Given the description of an element on the screen output the (x, y) to click on. 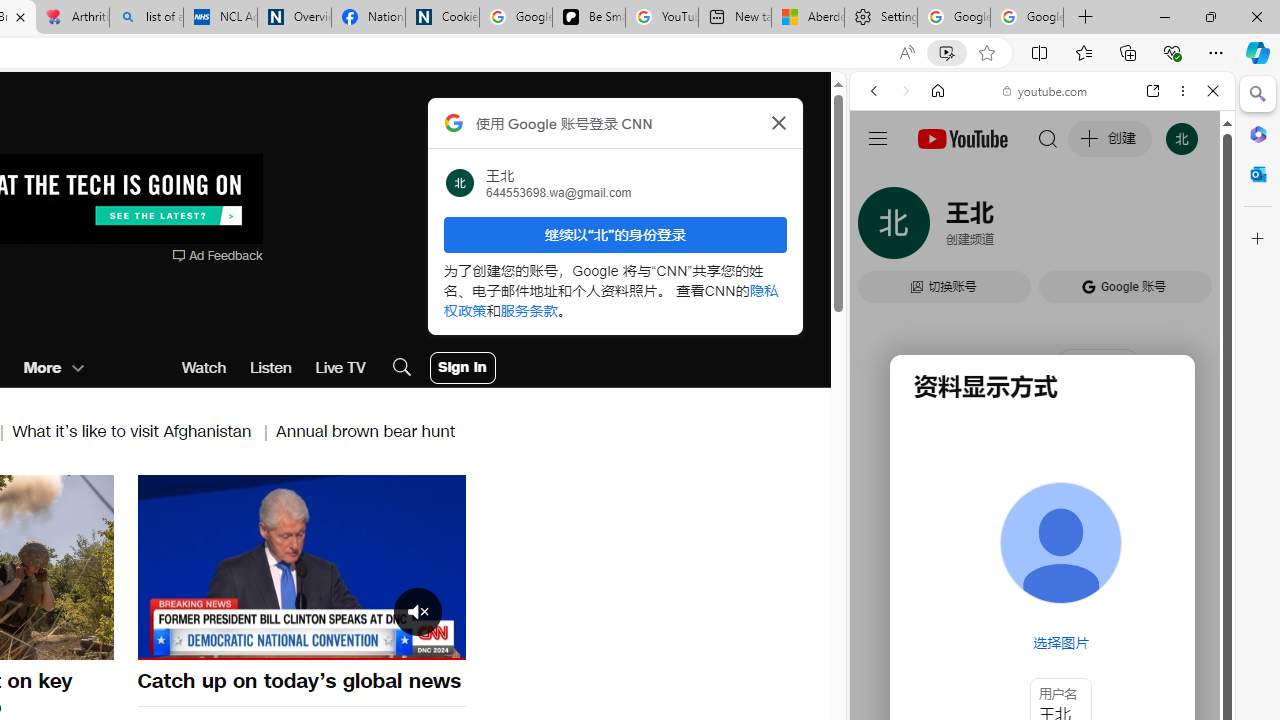
Forward 10 seconds (361, 565)
Listen (270, 367)
Unmute (164, 642)
